Given the description of an element on the screen output the (x, y) to click on. 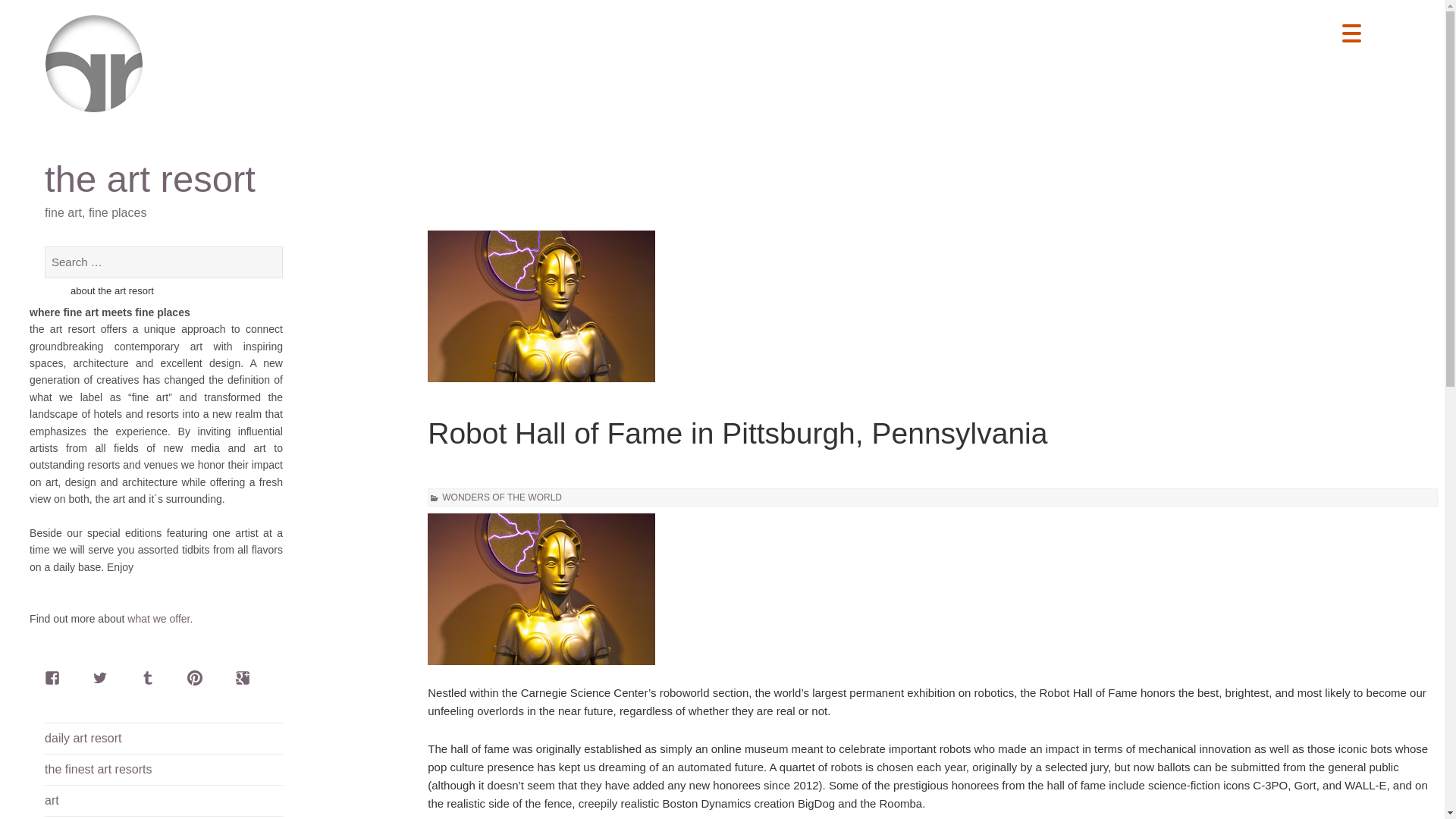
WONDERS OF THE WORLD (502, 497)
get in touch (160, 618)
we are on google plus. (248, 684)
yes, we pin. (201, 684)
what we offer. (160, 618)
Maria (541, 589)
daily art resort (163, 738)
the art resort tumbling (153, 684)
fb (59, 684)
news, notes and findings on the art resort tumblr. (153, 684)
art (163, 800)
The art resort tweeting. (106, 684)
